Given the description of an element on the screen output the (x, y) to click on. 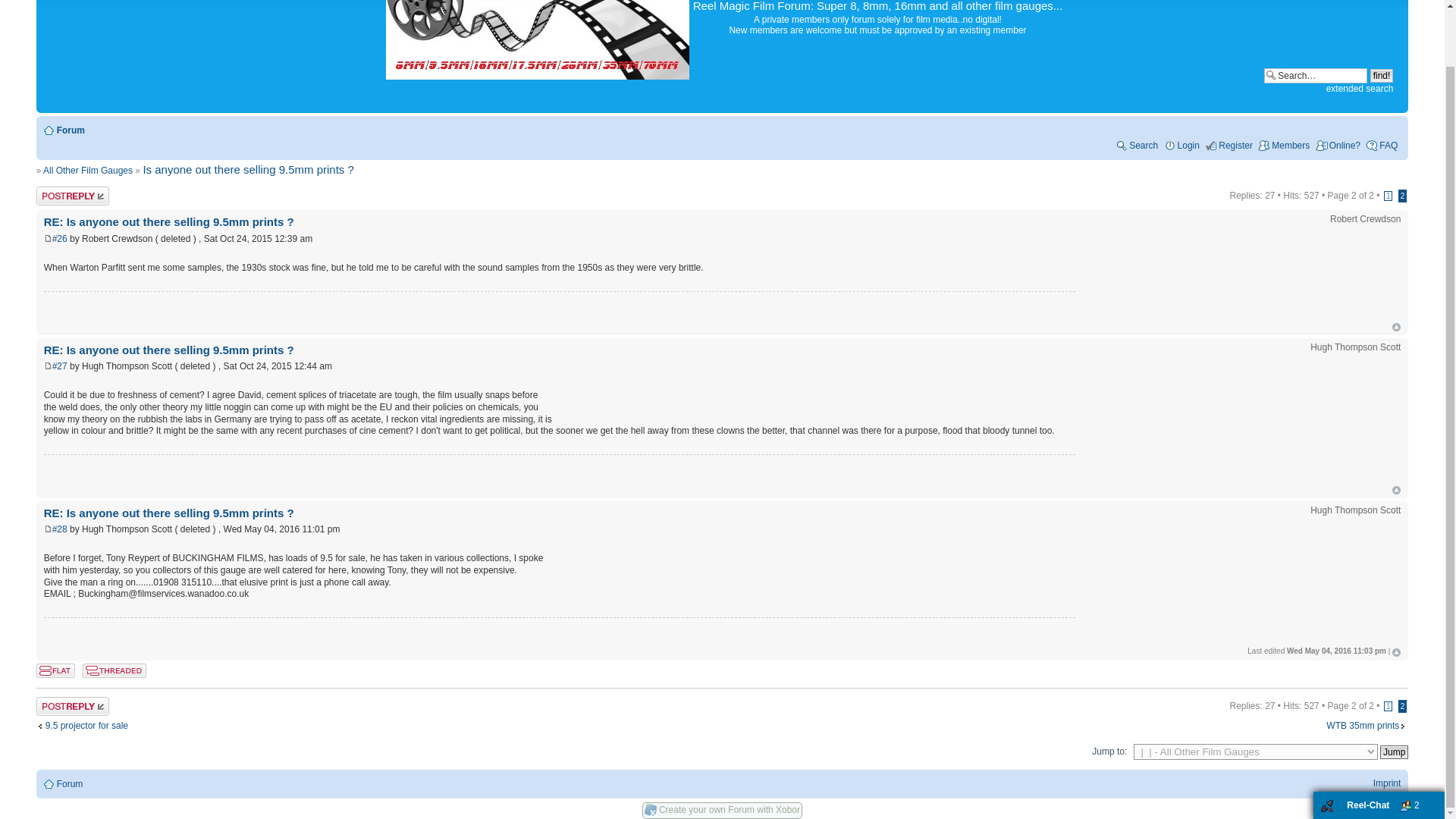
Search (1315, 75)
extended search (1359, 88)
Search (1136, 145)
Jump (1393, 752)
Top (1395, 490)
Imprint (1386, 783)
RE: Is anyone out there selling 9.5mm prints ? (59, 238)
1 (1388, 706)
RE: Is anyone out there selling 9.5mm prints ? (59, 529)
Create your own Forum with Xobor (729, 809)
RE: Is anyone out there selling 9.5mm prints ? (168, 512)
find! (1381, 75)
Forum (70, 130)
RE: Is anyone out there selling 9.5mm prints ? (168, 221)
Show only one post (114, 670)
